Given the description of an element on the screen output the (x, y) to click on. 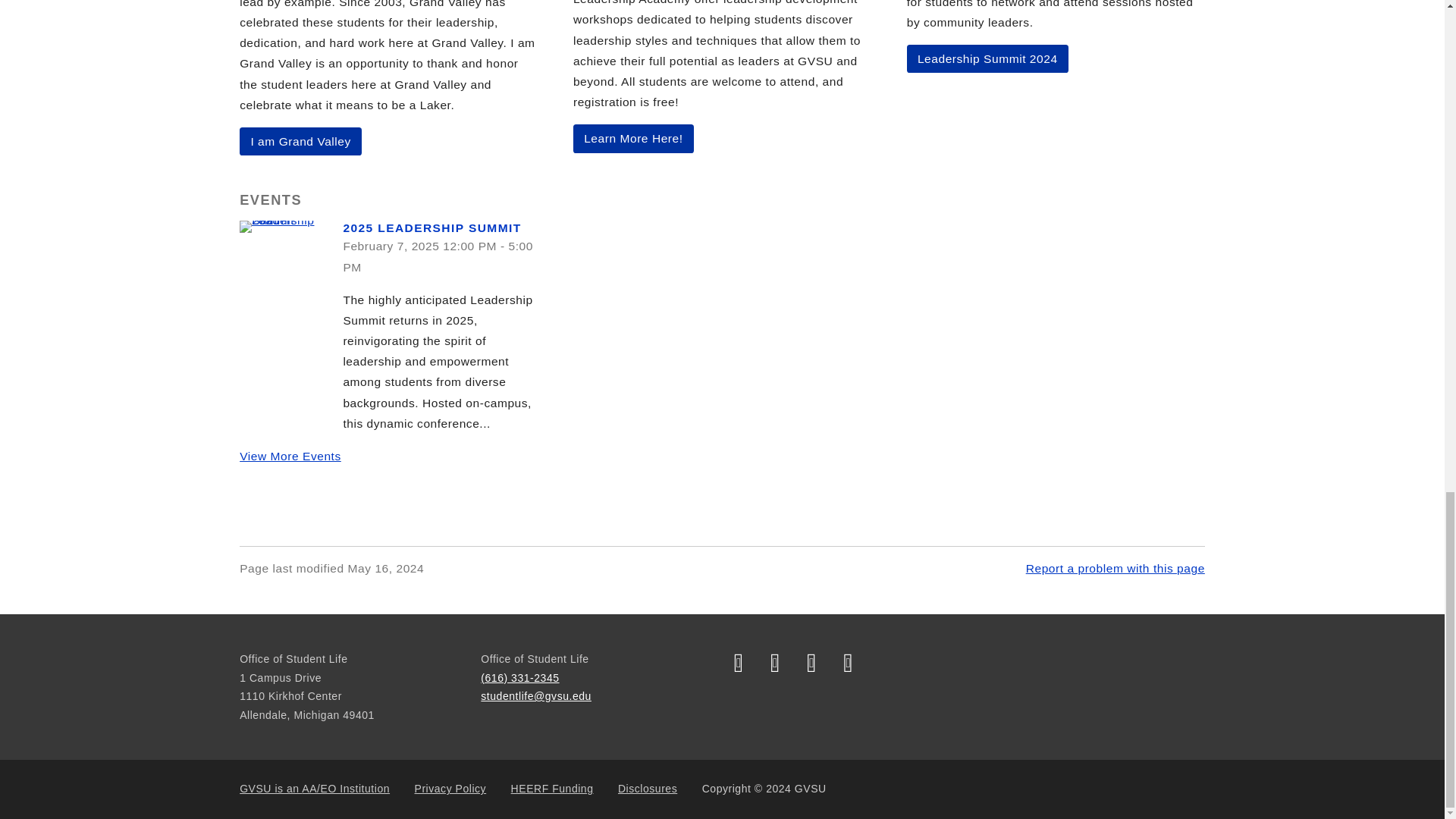
HEERF Funding (552, 789)
Leadership Summit 2024 (987, 59)
Disclosures (647, 789)
2025 Leadership Summit on February 7, 2025 (431, 227)
EVENTS (270, 199)
2025 Leadership Summit (285, 226)
Report a problem with this page (1115, 567)
Privacy Policy (450, 789)
Learn More Here! (633, 138)
View More Events (290, 455)
I am Grand Valley (300, 141)
2025 LEADERSHIP SUMMIT (431, 227)
